Given the description of an element on the screen output the (x, y) to click on. 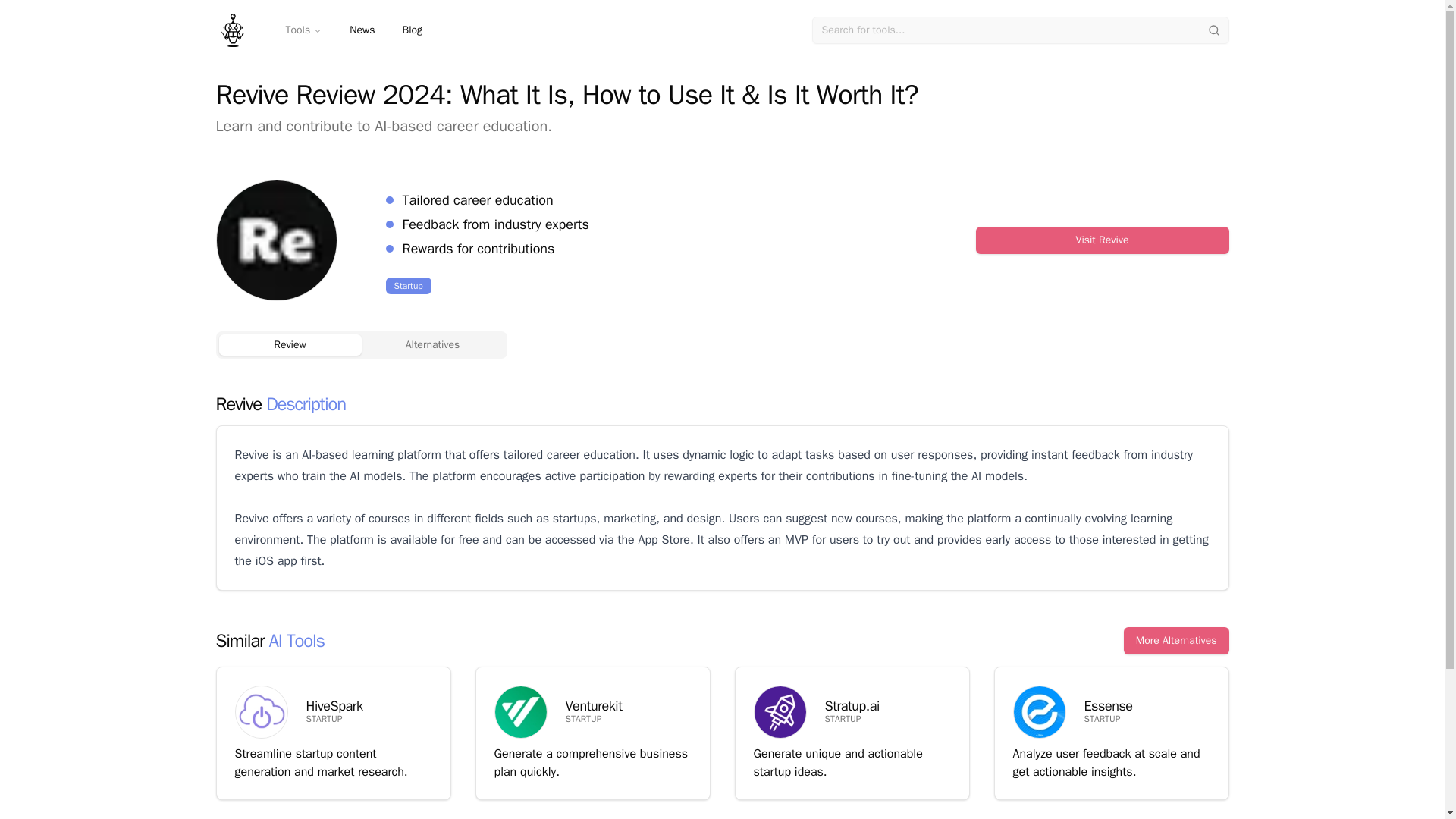
Startup (407, 285)
News (362, 30)
Tools (303, 30)
More Alternatives (1176, 640)
Review (289, 344)
Blog (411, 30)
Alternatives (432, 344)
Visit Revive (1101, 239)
